Given the description of an element on the screen output the (x, y) to click on. 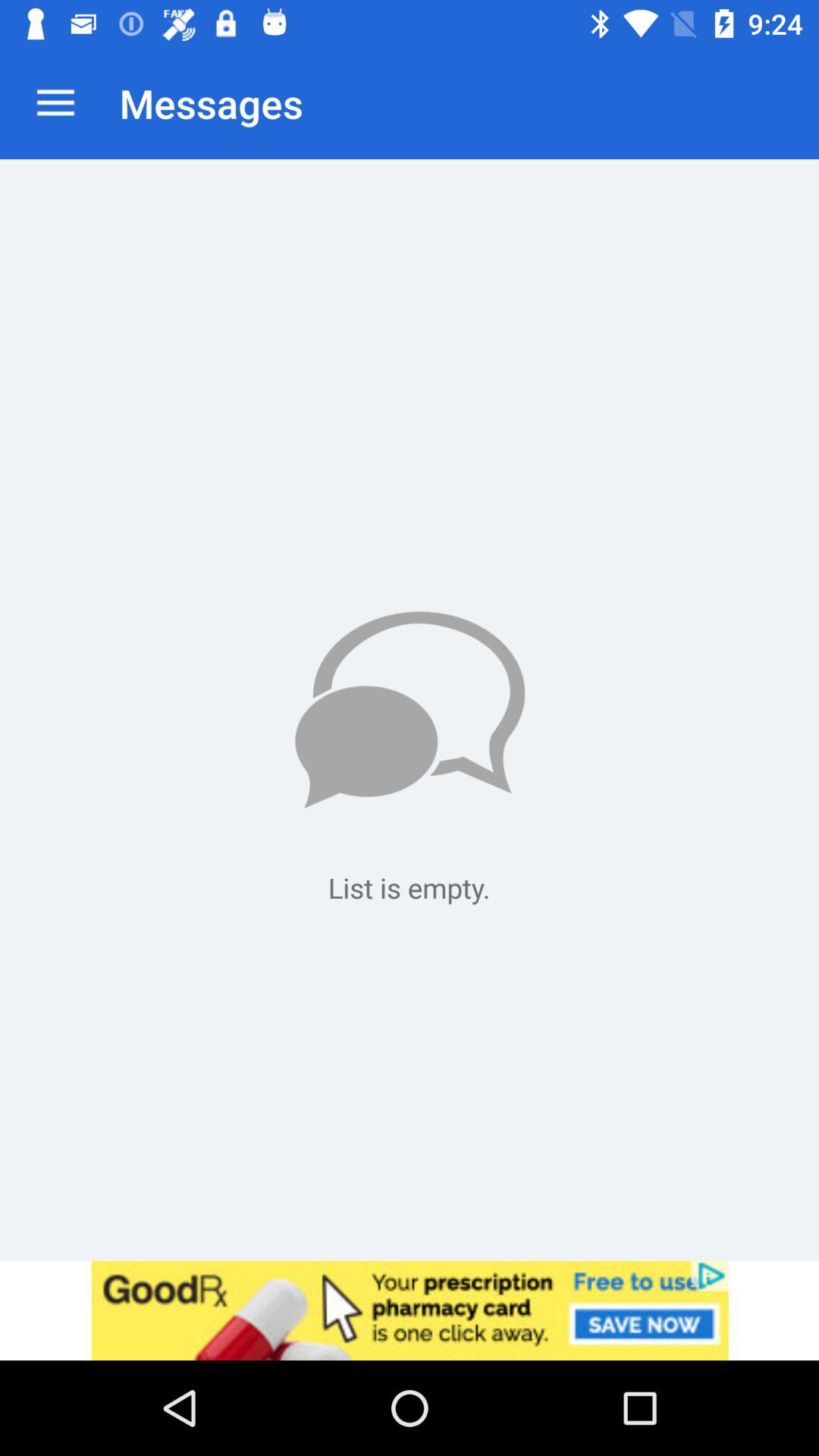
message option (409, 709)
